Given the description of an element on the screen output the (x, y) to click on. 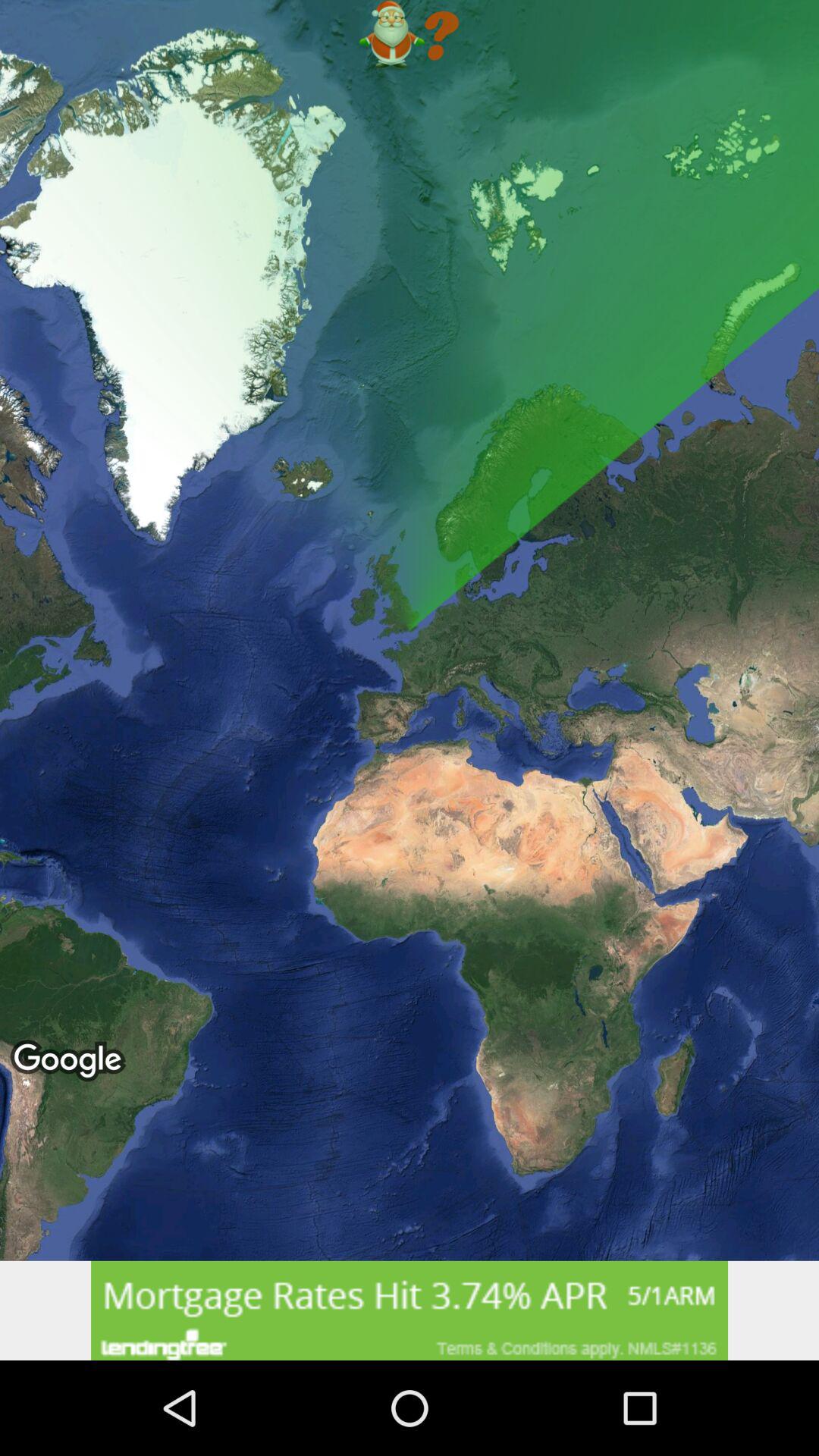
banner advertisement (409, 1310)
